Given the description of an element on the screen output the (x, y) to click on. 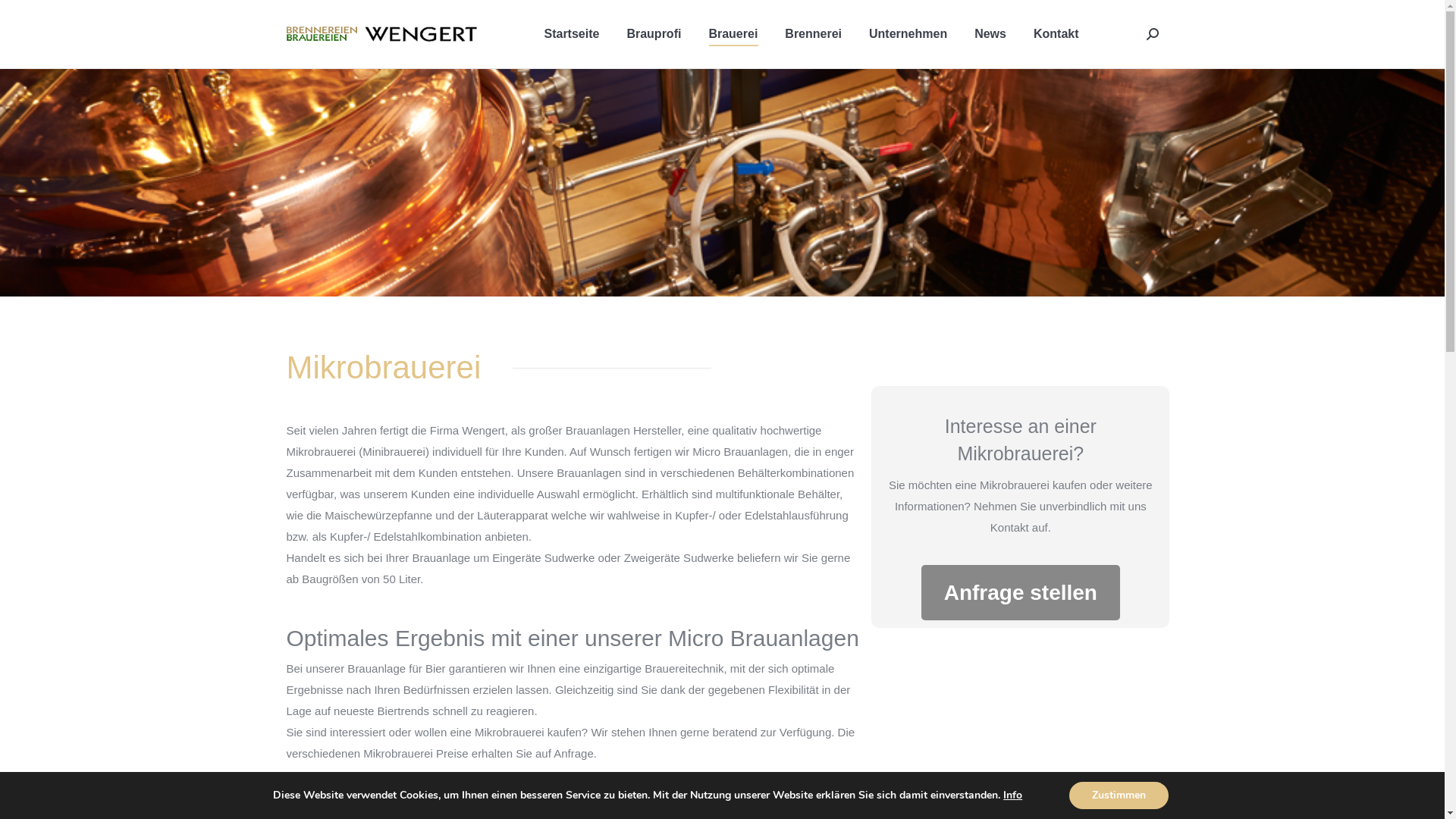
News Element type: text (990, 33)
Zustimmen Element type: text (1118, 795)
Anfrage stellen Element type: text (1020, 592)
Info Element type: text (1012, 794)
Los! Element type: text (26, 15)
Unternehmen Element type: text (908, 33)
Startseite Element type: text (571, 33)
Kontakt Element type: text (1056, 33)
Brauprofi Element type: text (653, 33)
Brauerei Element type: text (732, 33)
Brennerei Element type: text (812, 33)
